Given the description of an element on the screen output the (x, y) to click on. 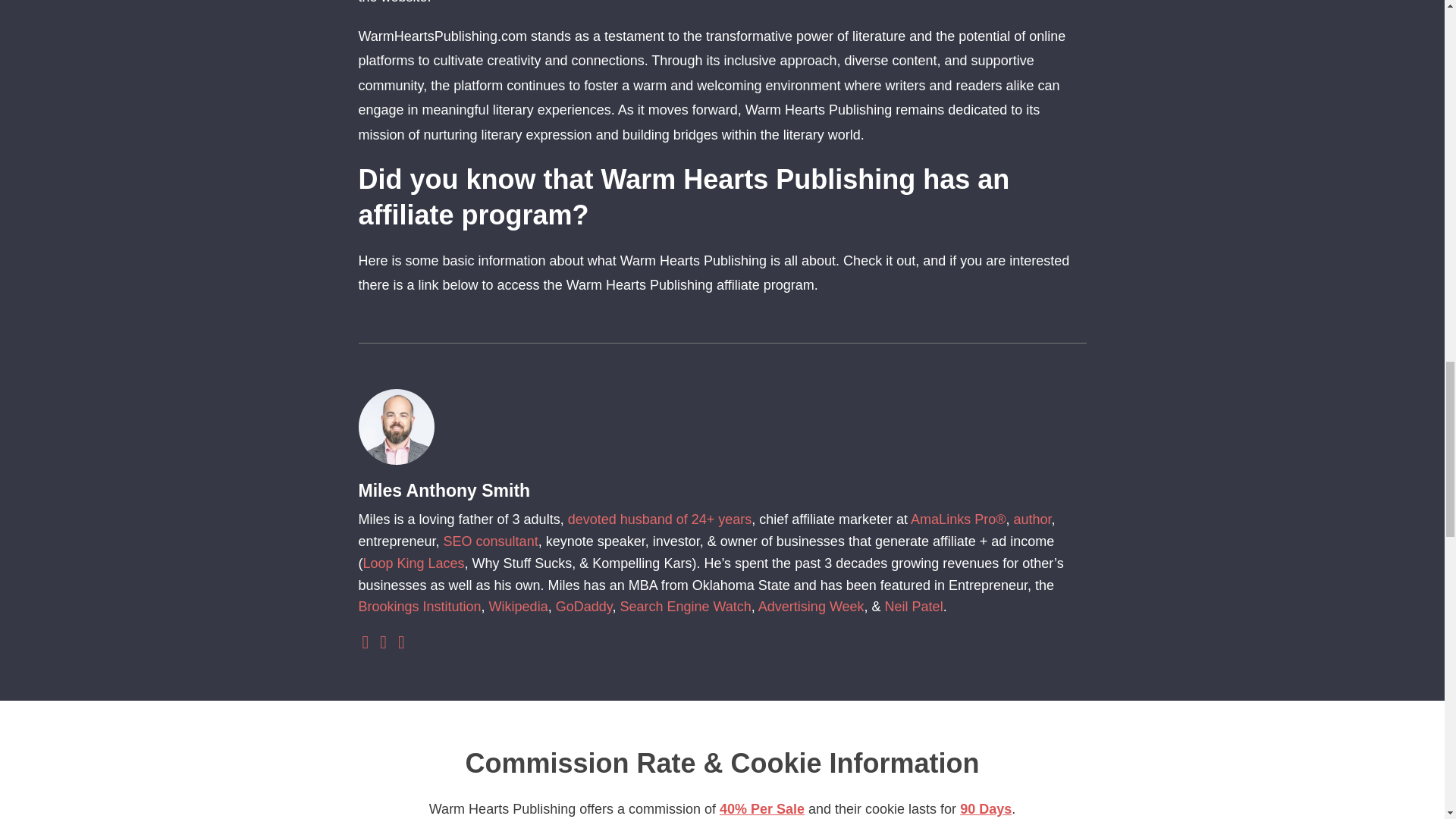
author (1032, 519)
Brookings Institution (419, 606)
LinkedIn (365, 643)
GoDaddy (584, 606)
Audible (401, 643)
Advertising Week (811, 606)
SEO consultant (491, 540)
Wikipedia (518, 606)
Search Engine Watch (685, 606)
Amazon (382, 643)
Loop King Laces (413, 563)
